Given the description of an element on the screen output the (x, y) to click on. 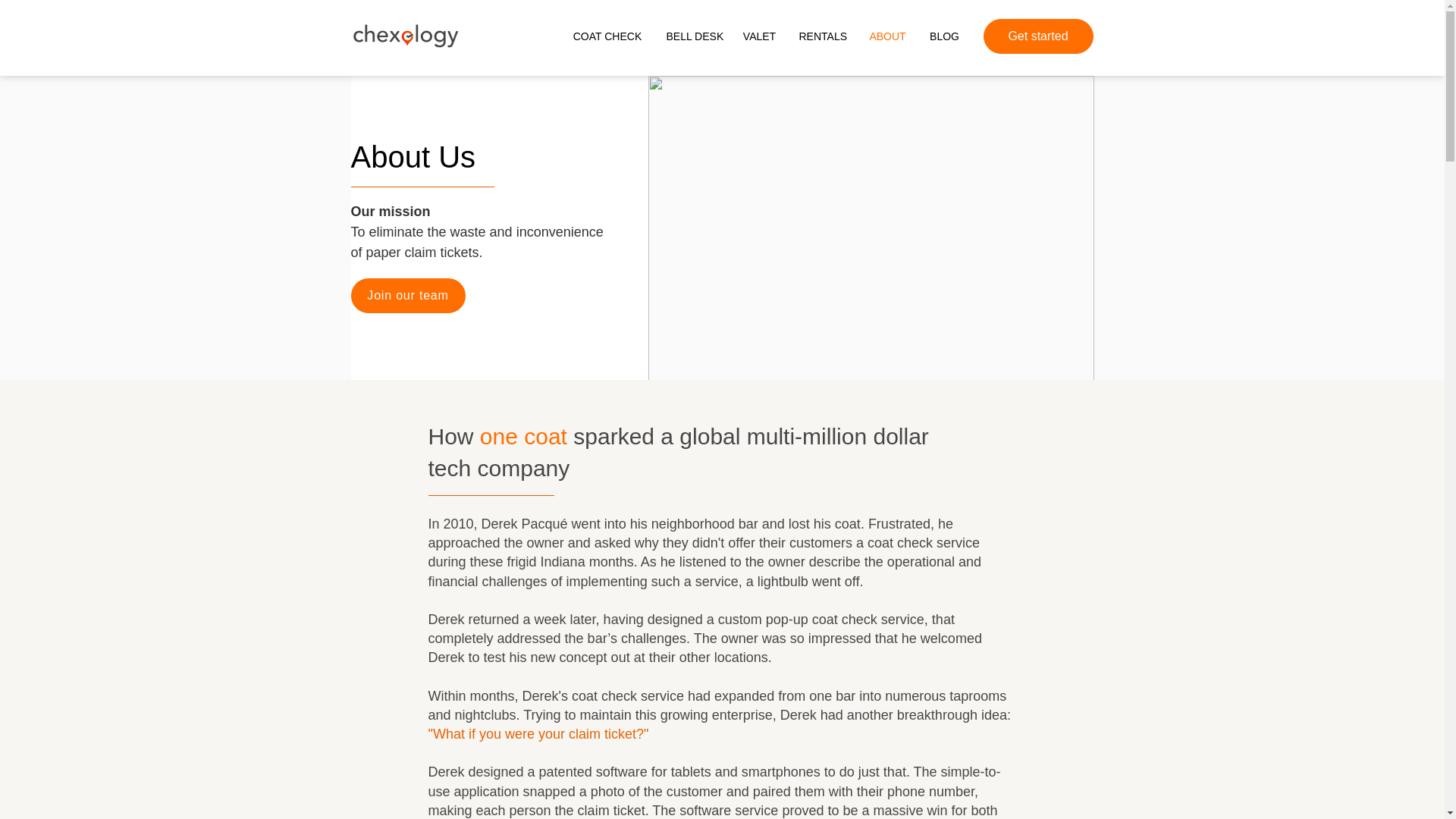
BLOG (944, 36)
COAT CHECK (606, 36)
VALET (758, 36)
BELL DESK (693, 36)
RENTALS (822, 36)
Join our team (407, 295)
ABOUT (887, 36)
Get started (1037, 36)
